Given the description of an element on the screen output the (x, y) to click on. 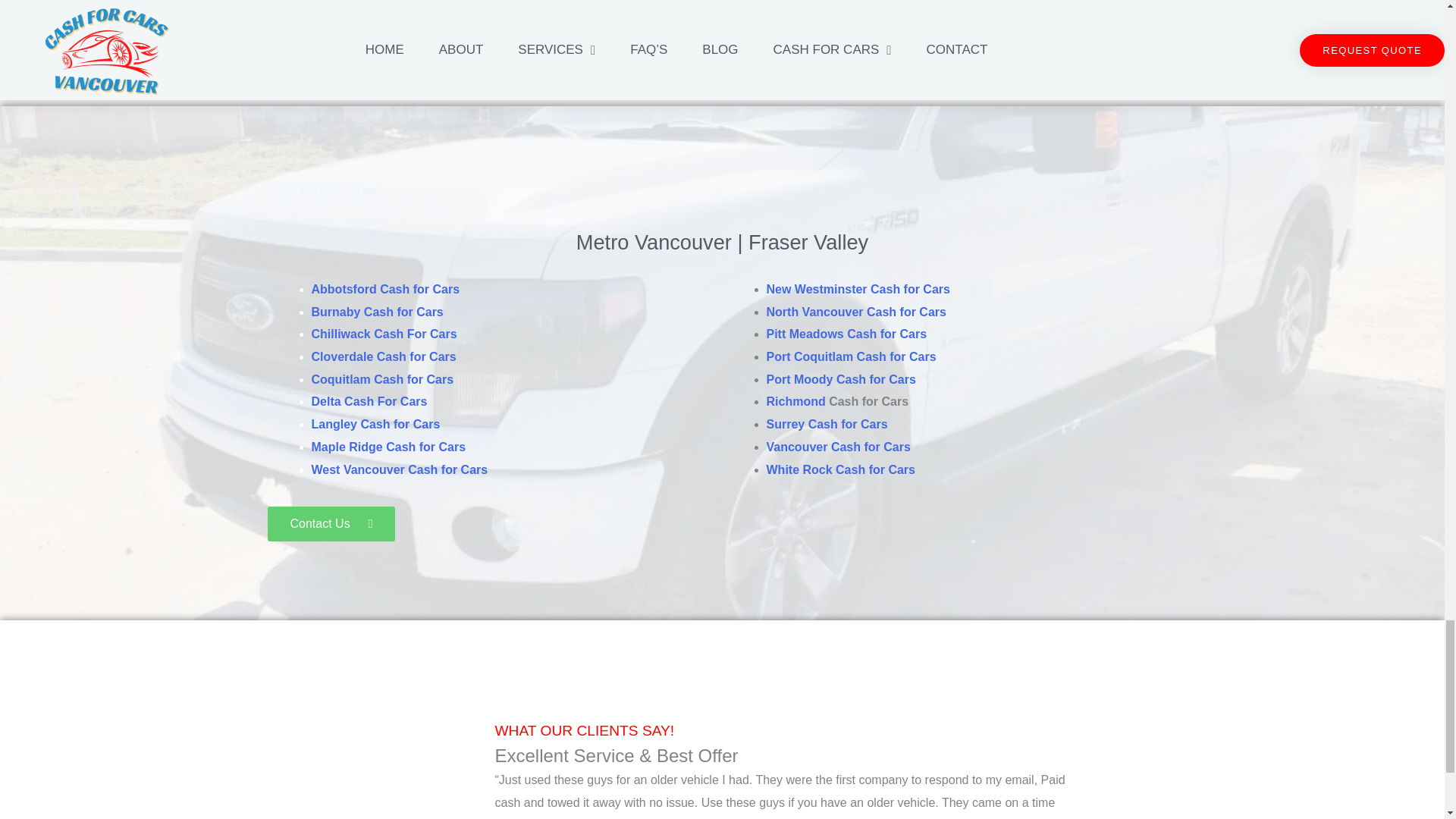
Sell my car surrey (882, 29)
